Given the description of an element on the screen output the (x, y) to click on. 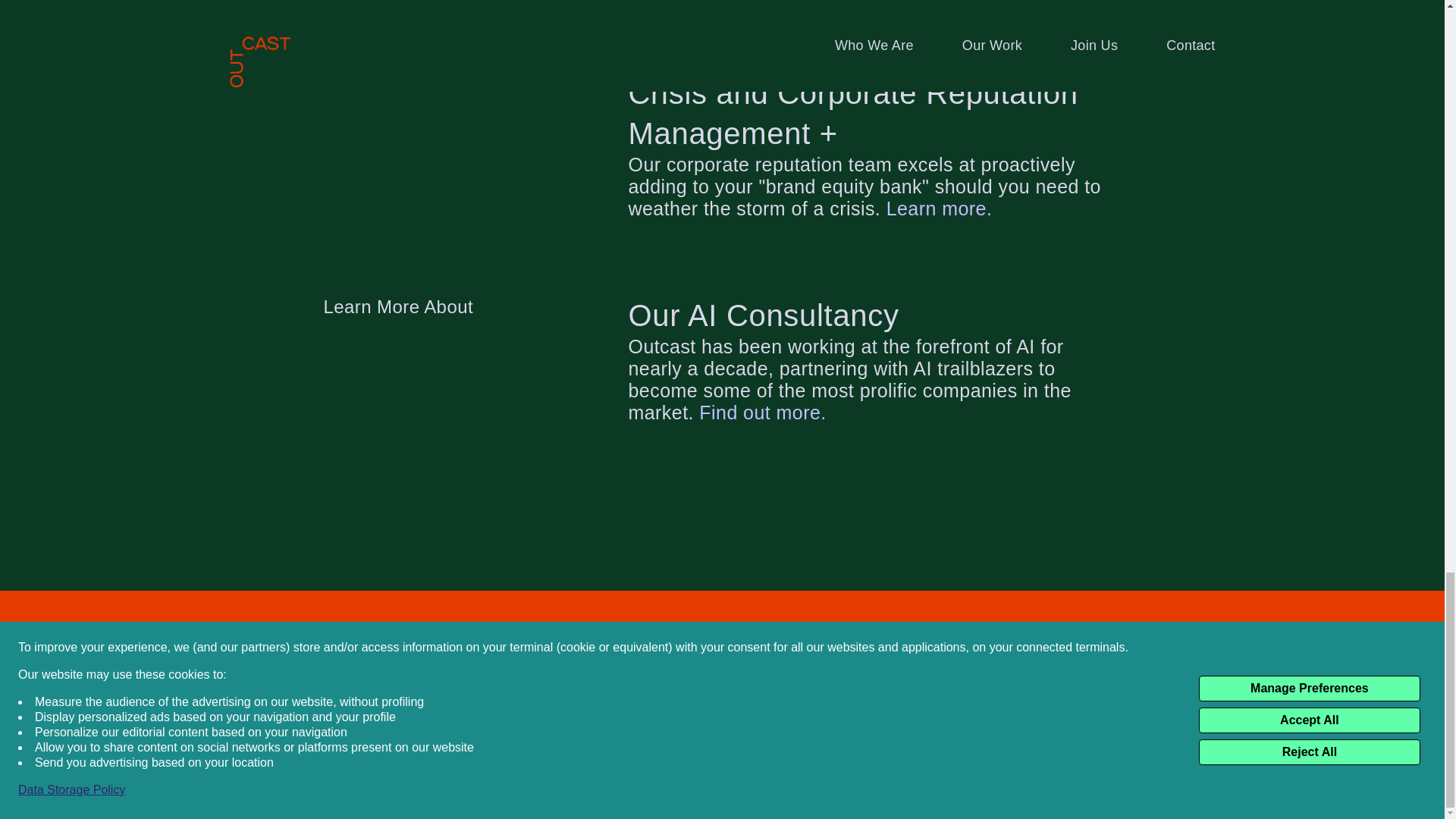
Discover our digital work. (946, 18)
Instagram (881, 754)
Find out more. (761, 412)
TikTok (1095, 754)
Newsletter Archive (1043, 670)
Twitter (1031, 754)
Cookie Preferences (732, 754)
Privacy Policy (603, 754)
Learn more. (939, 208)
Connect with us here (1035, 647)
LinkedIn (963, 754)
